Given the description of an element on the screen output the (x, y) to click on. 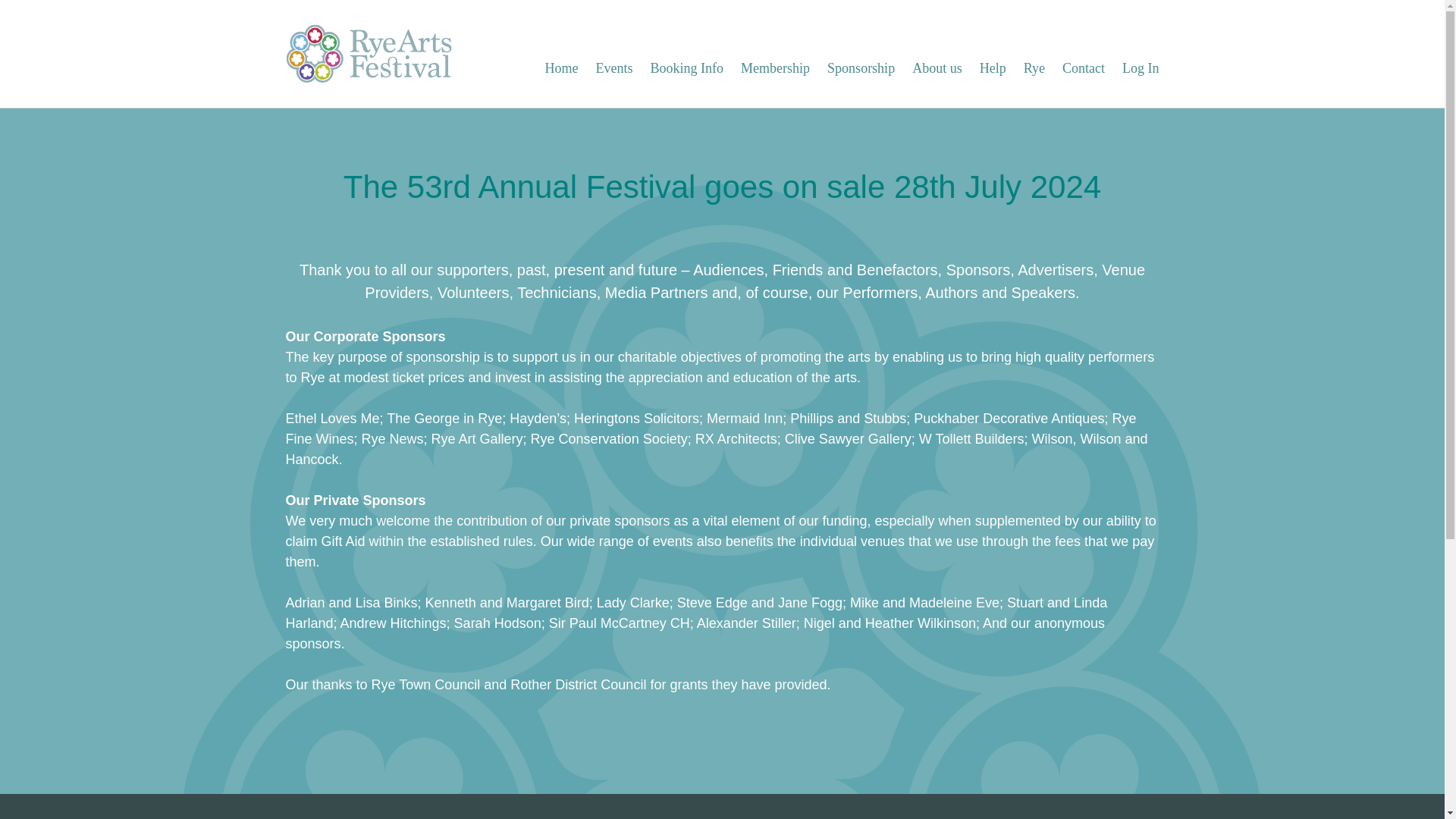
Help (992, 68)
Home (561, 68)
Contact (1083, 68)
About us (937, 68)
Membership (775, 68)
Rye (1034, 68)
Events (614, 68)
Log In (1140, 68)
Rye Arts Festival (370, 54)
Sponsorship (861, 68)
Booking Info (686, 68)
